Given the description of an element on the screen output the (x, y) to click on. 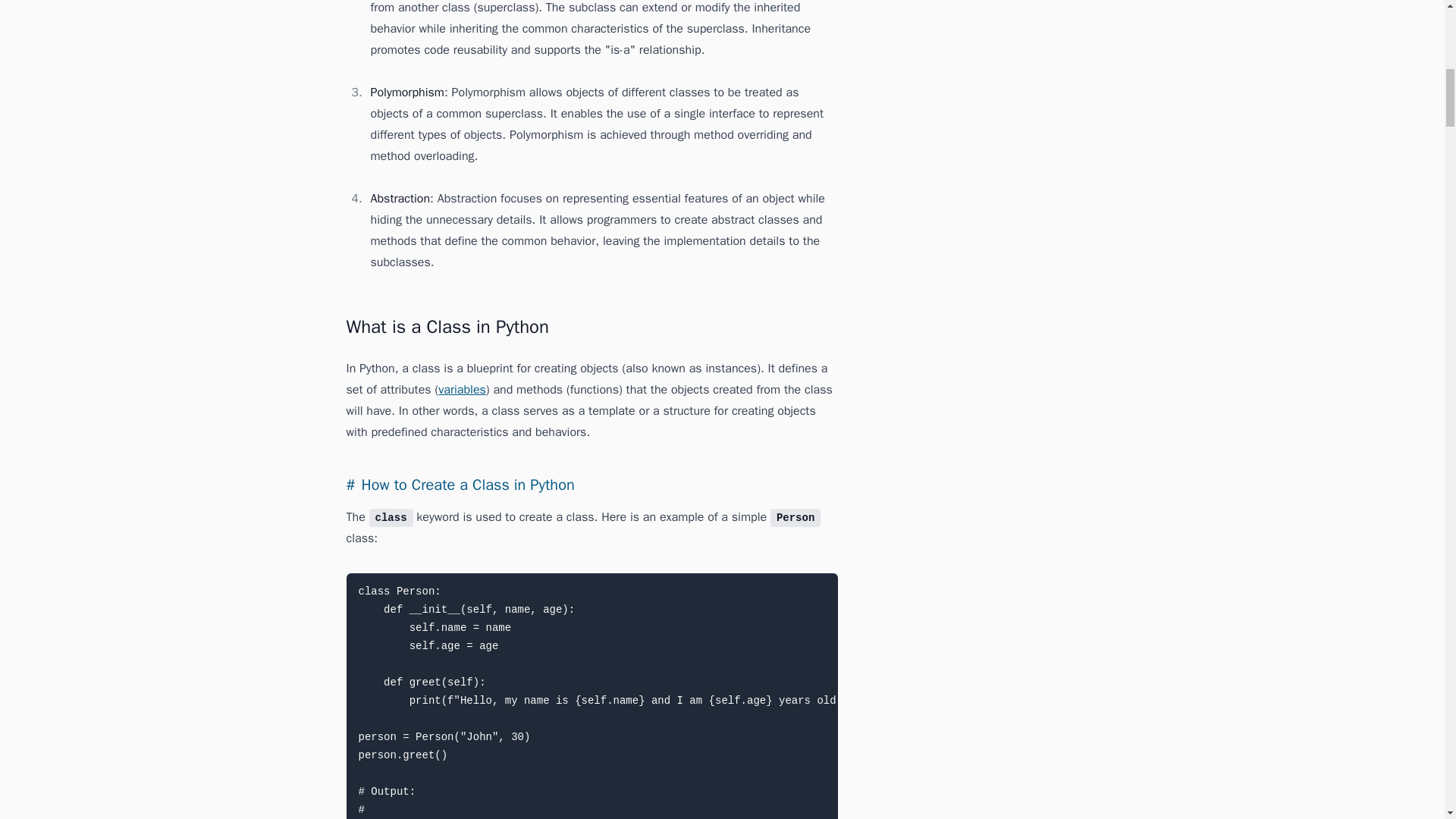
variables (462, 389)
